Given the description of an element on the screen output the (x, y) to click on. 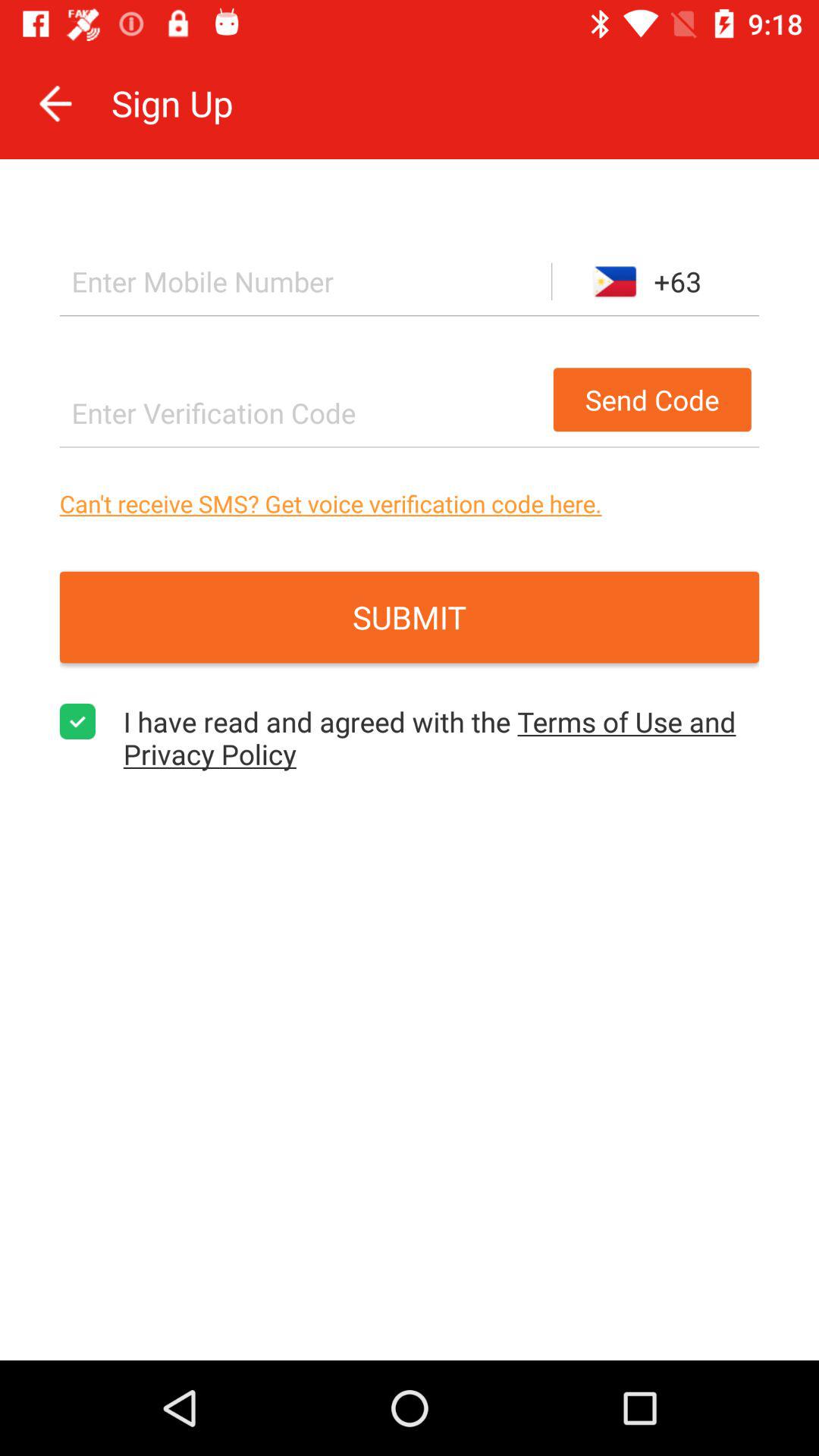
enter phone number (305, 281)
